Given the description of an element on the screen output the (x, y) to click on. 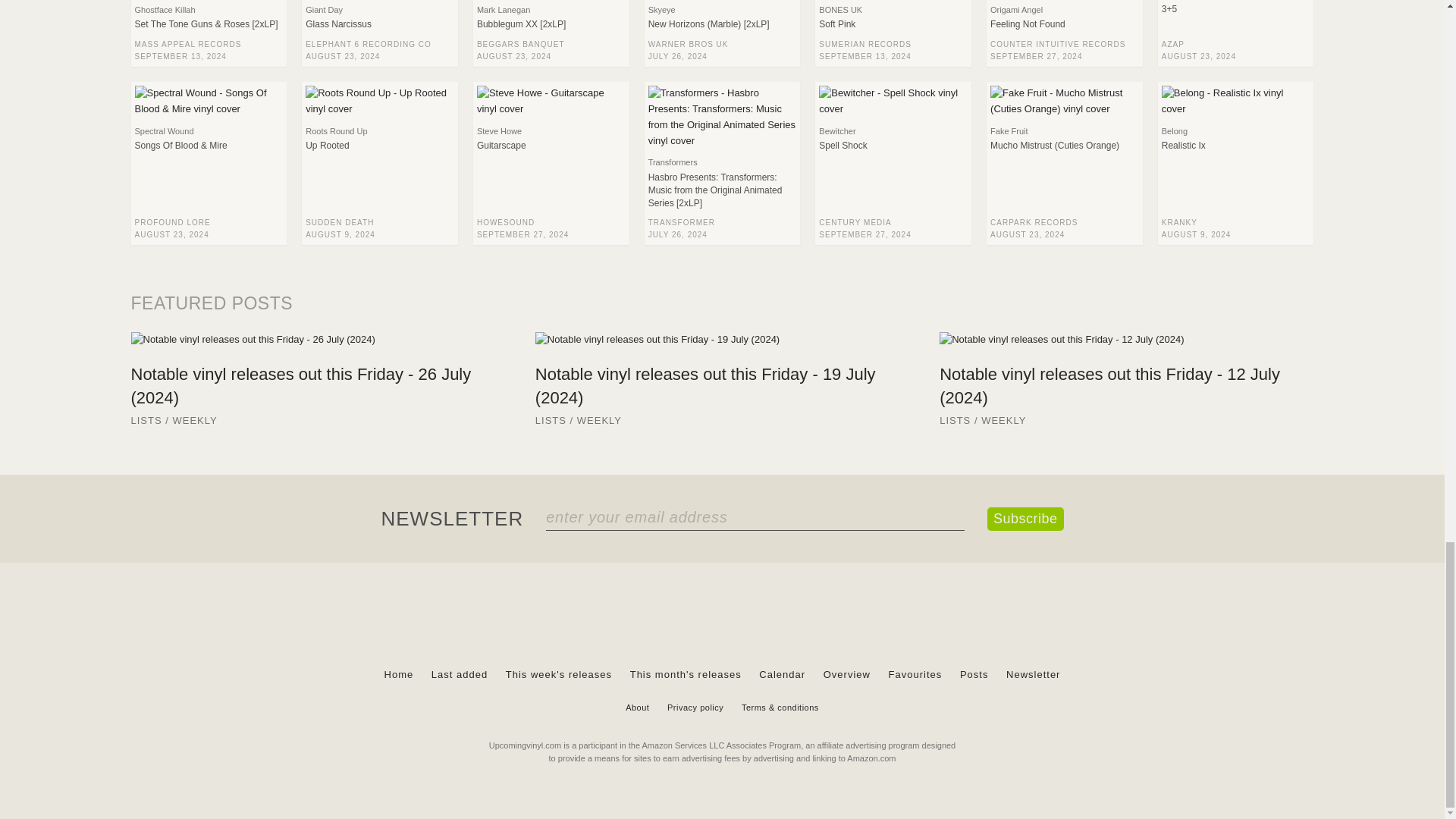
Subscribe (1025, 518)
